Given the description of an element on the screen output the (x, y) to click on. 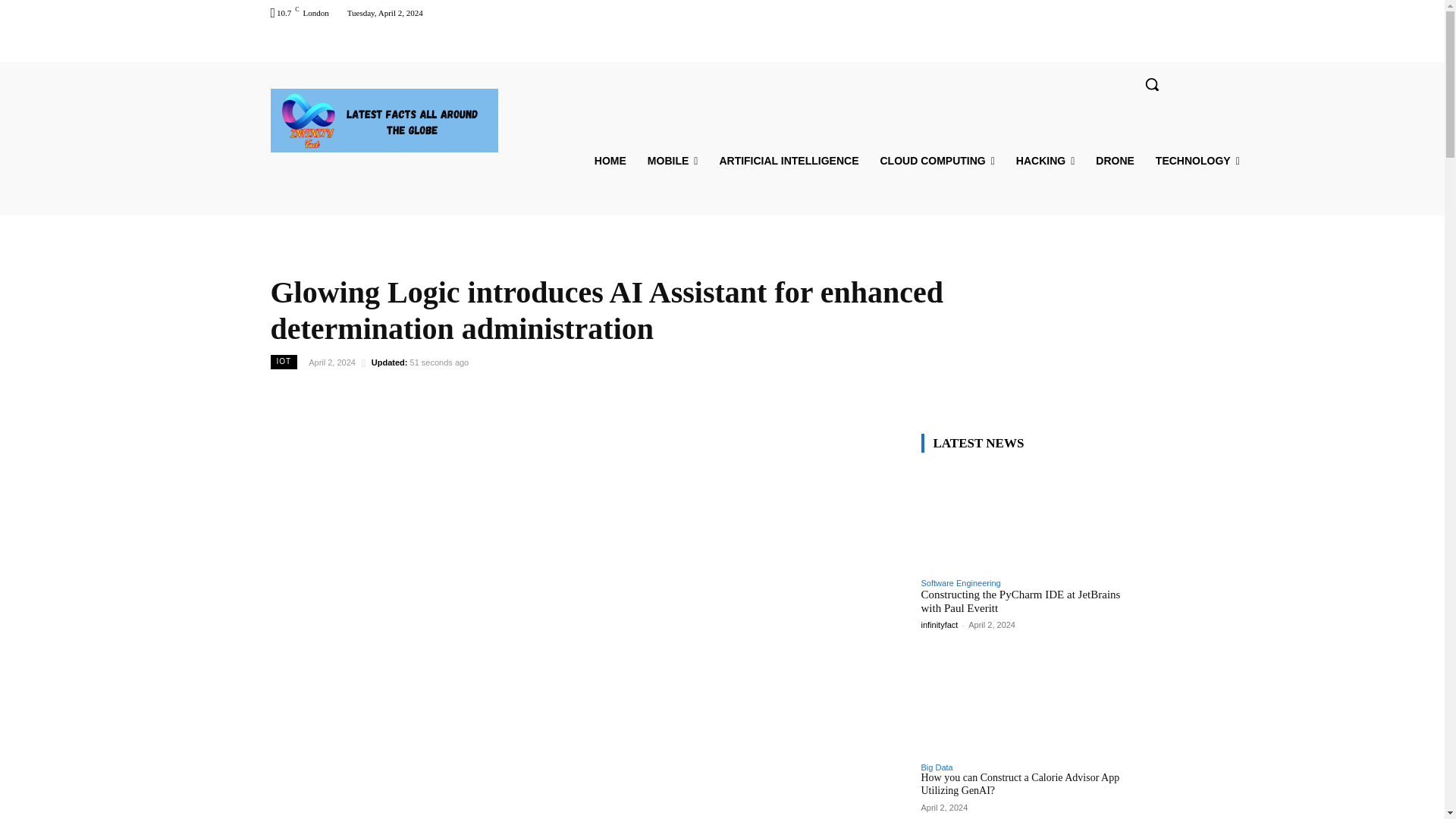
CLOUD COMPUTING (936, 160)
HACKING (1045, 160)
HOME (610, 160)
MOBILE (673, 160)
ARTIFICIAL INTELLIGENCE (788, 160)
